Given the description of an element on the screen output the (x, y) to click on. 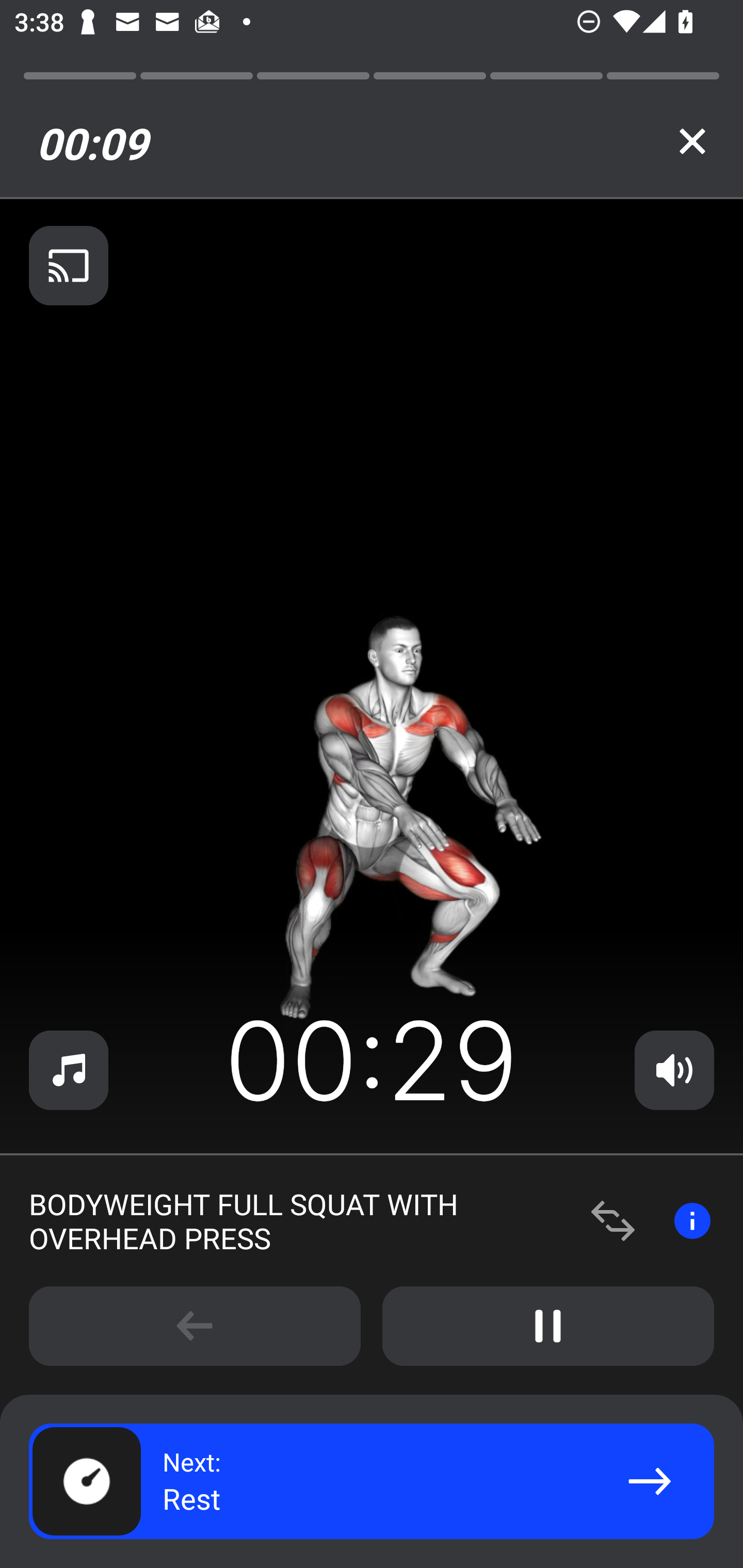
Next: Rest (371, 1481)
